Given the description of an element on the screen output the (x, y) to click on. 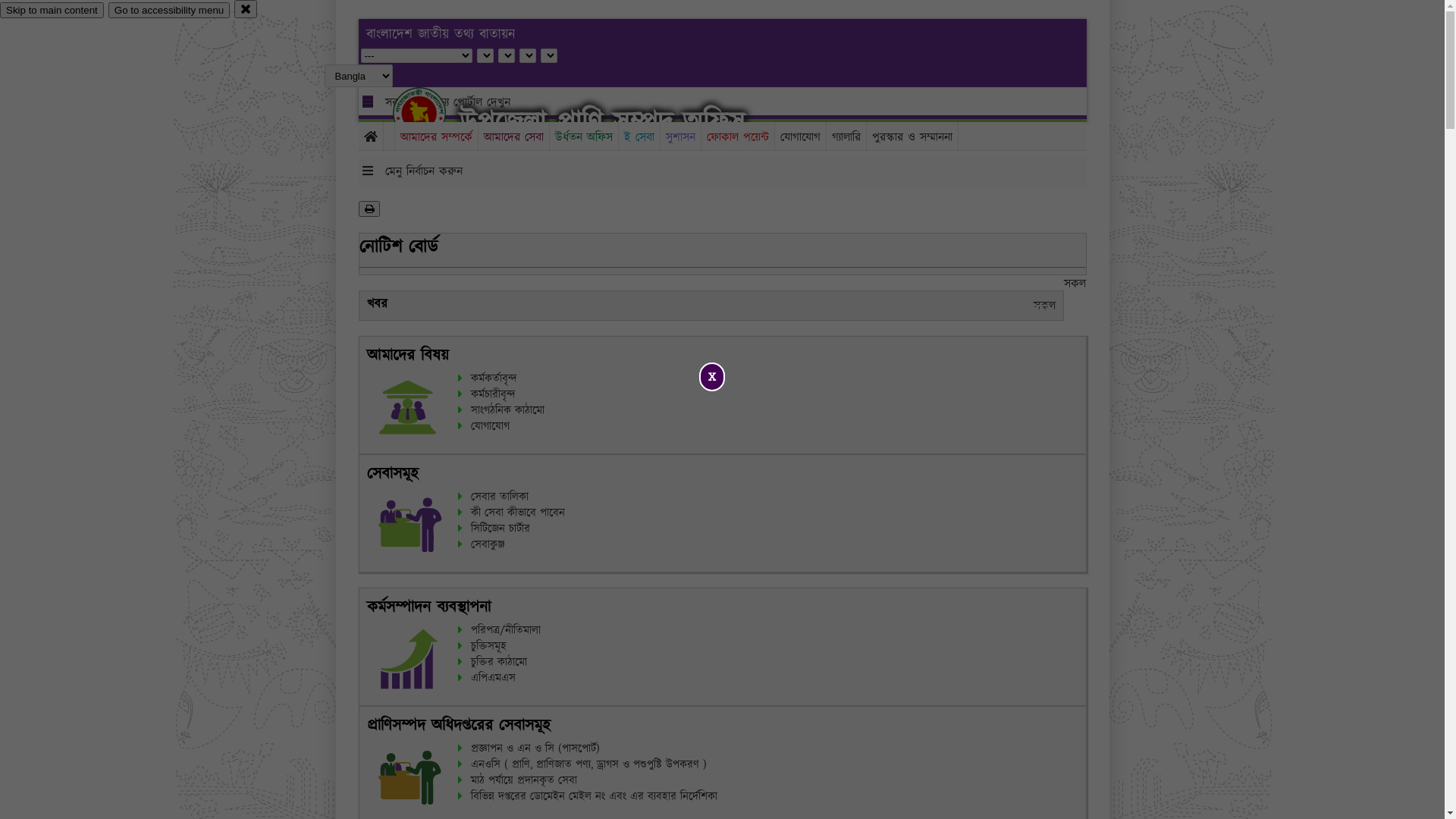
close Element type: hover (245, 9)

                
             Element type: hover (431, 112)
Go to accessibility menu Element type: text (168, 10)
Skip to main content Element type: text (51, 10)
